Given the description of an element on the screen output the (x, y) to click on. 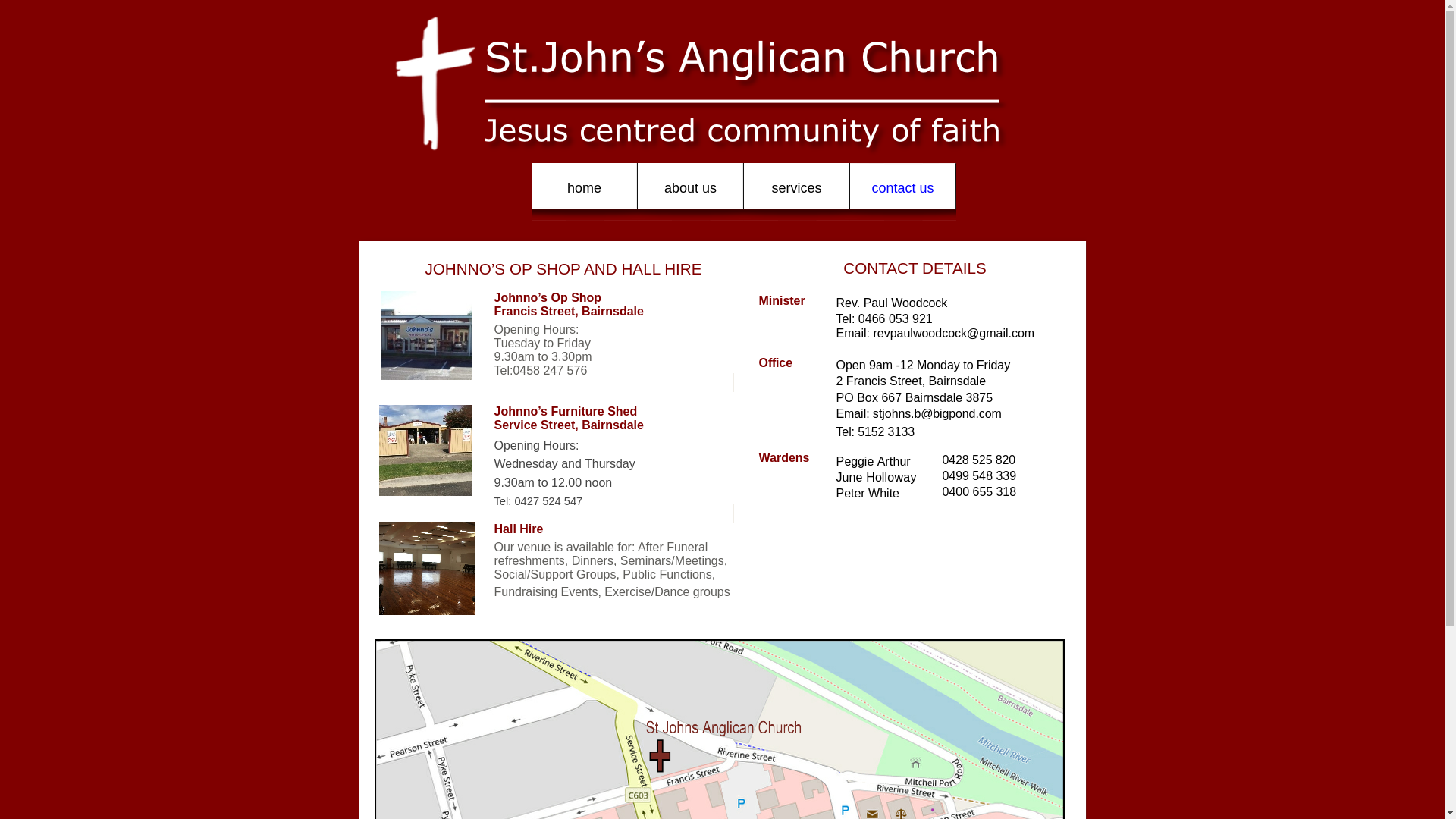
contact us Element type: text (902, 191)
services Element type: text (796, 191)
Hall Hire Element type: text (518, 528)
about us Element type: text (690, 191)
home Element type: text (583, 191)
